Given the description of an element on the screen output the (x, y) to click on. 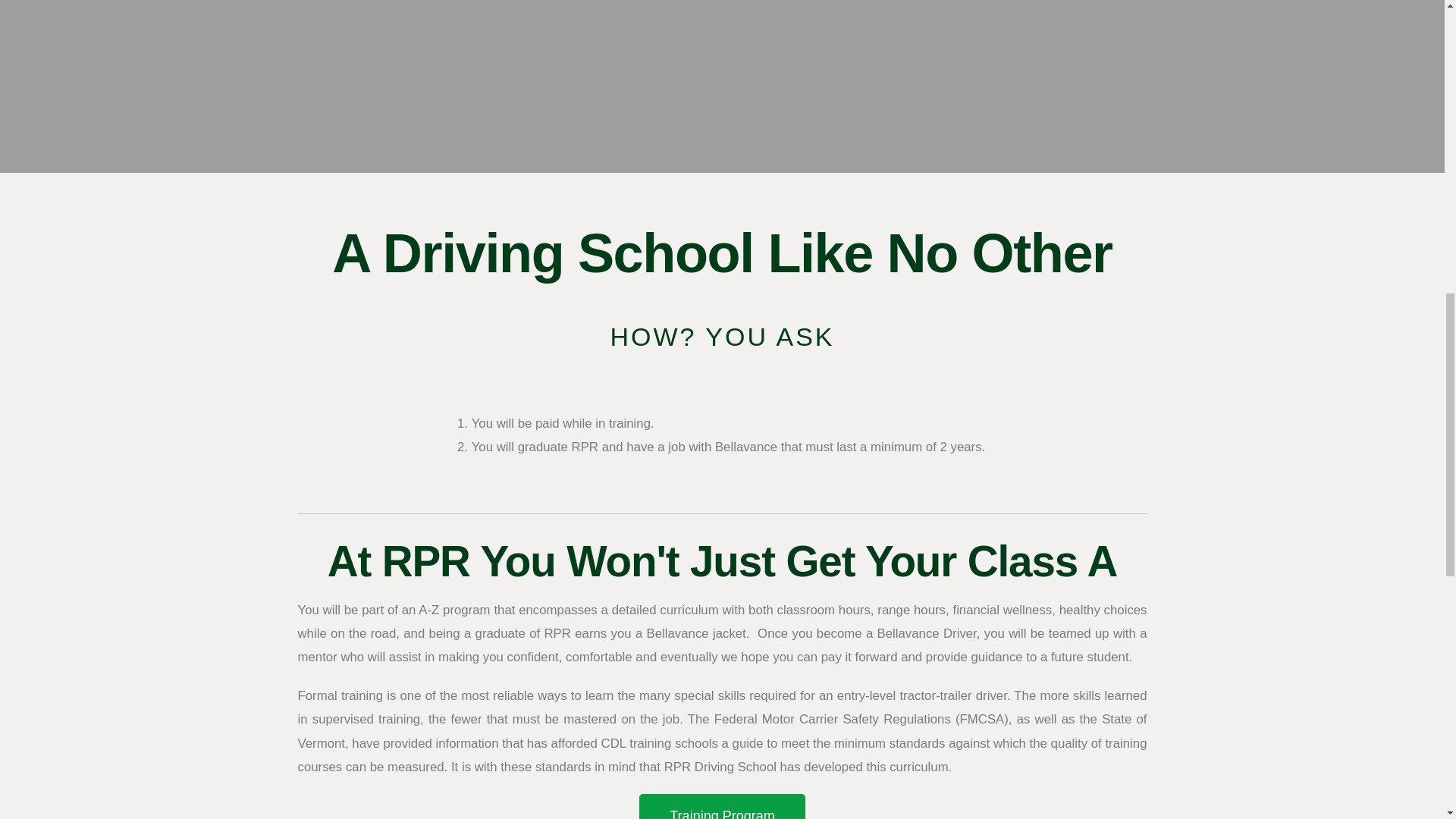
Training Program (722, 806)
